Given the description of an element on the screen output the (x, y) to click on. 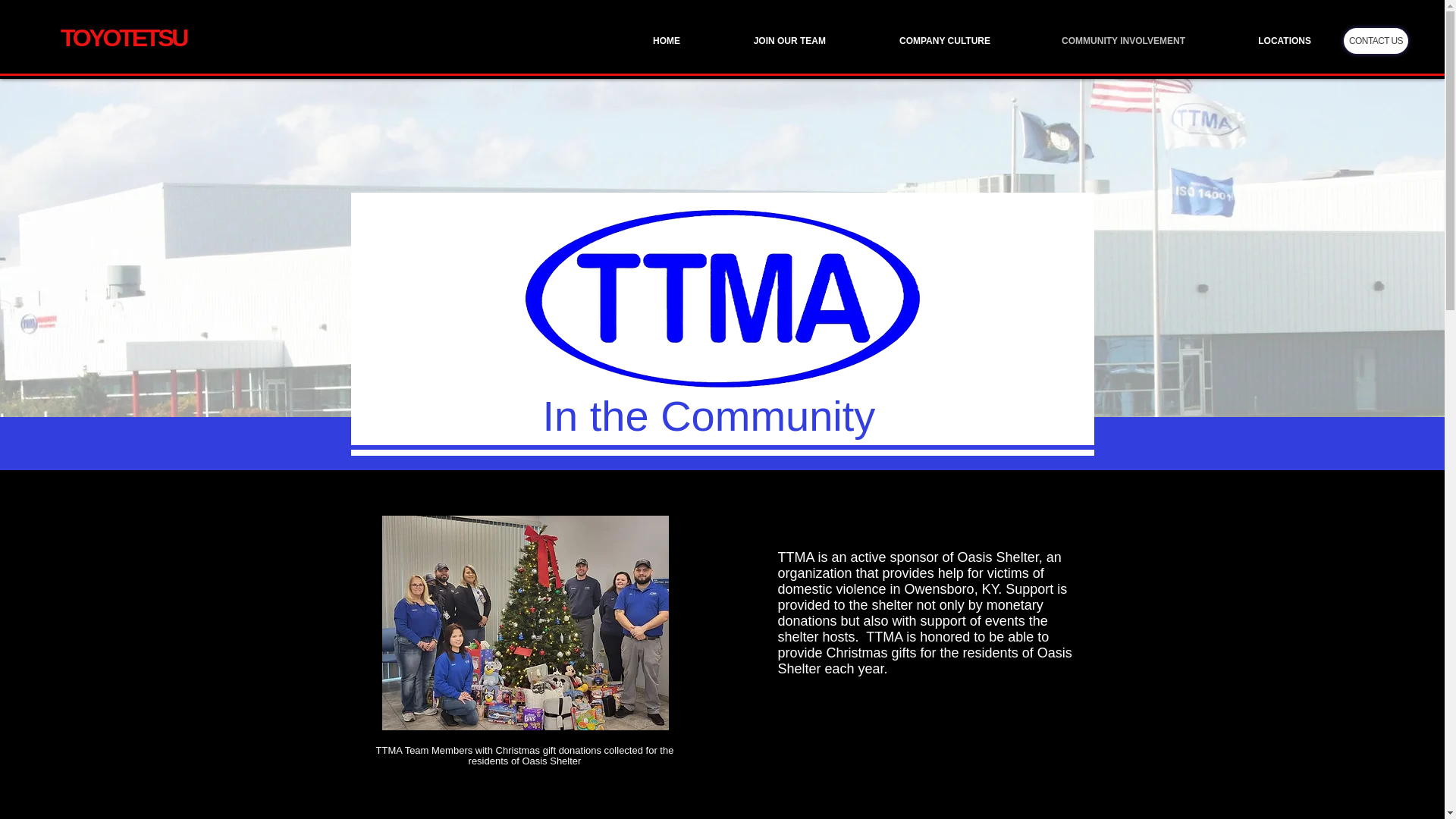
COMMUNITY INVOLVEMENT (1098, 41)
JOIN OUR TEAM (764, 41)
HOME (639, 41)
LOCATIONS (1259, 41)
COMPANY CULTURE (919, 41)
CONTACT US (1375, 40)
